Given the description of an element on the screen output the (x, y) to click on. 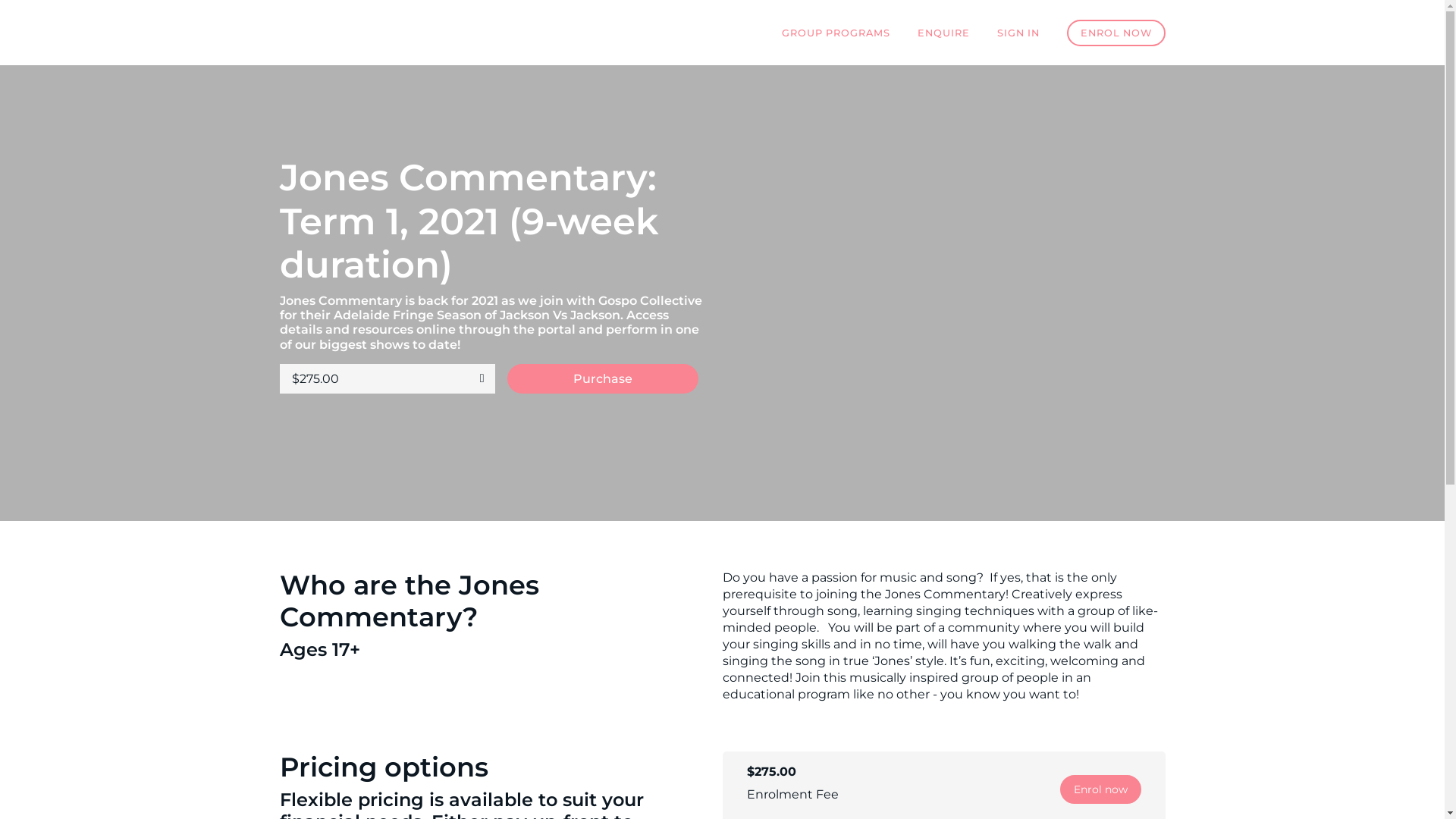
SIGN IN Element type: text (1017, 32)
ENQUIRE Element type: text (943, 32)
GROUP PROGRAMS Element type: text (835, 32)
Enrol now Element type: text (1100, 789)
ENROL NOW Element type: text (1115, 32)
Purchase Element type: text (601, 378)
